Given the description of an element on the screen output the (x, y) to click on. 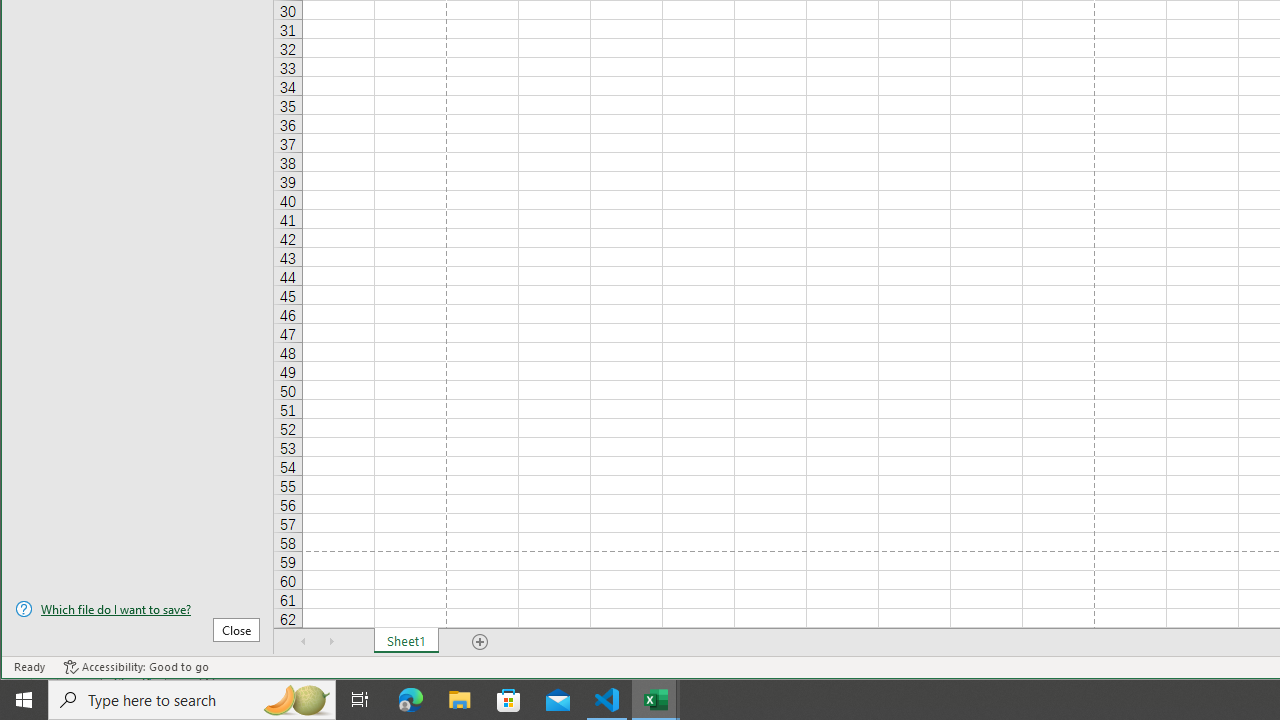
Start (24, 699)
